Given the description of an element on the screen output the (x, y) to click on. 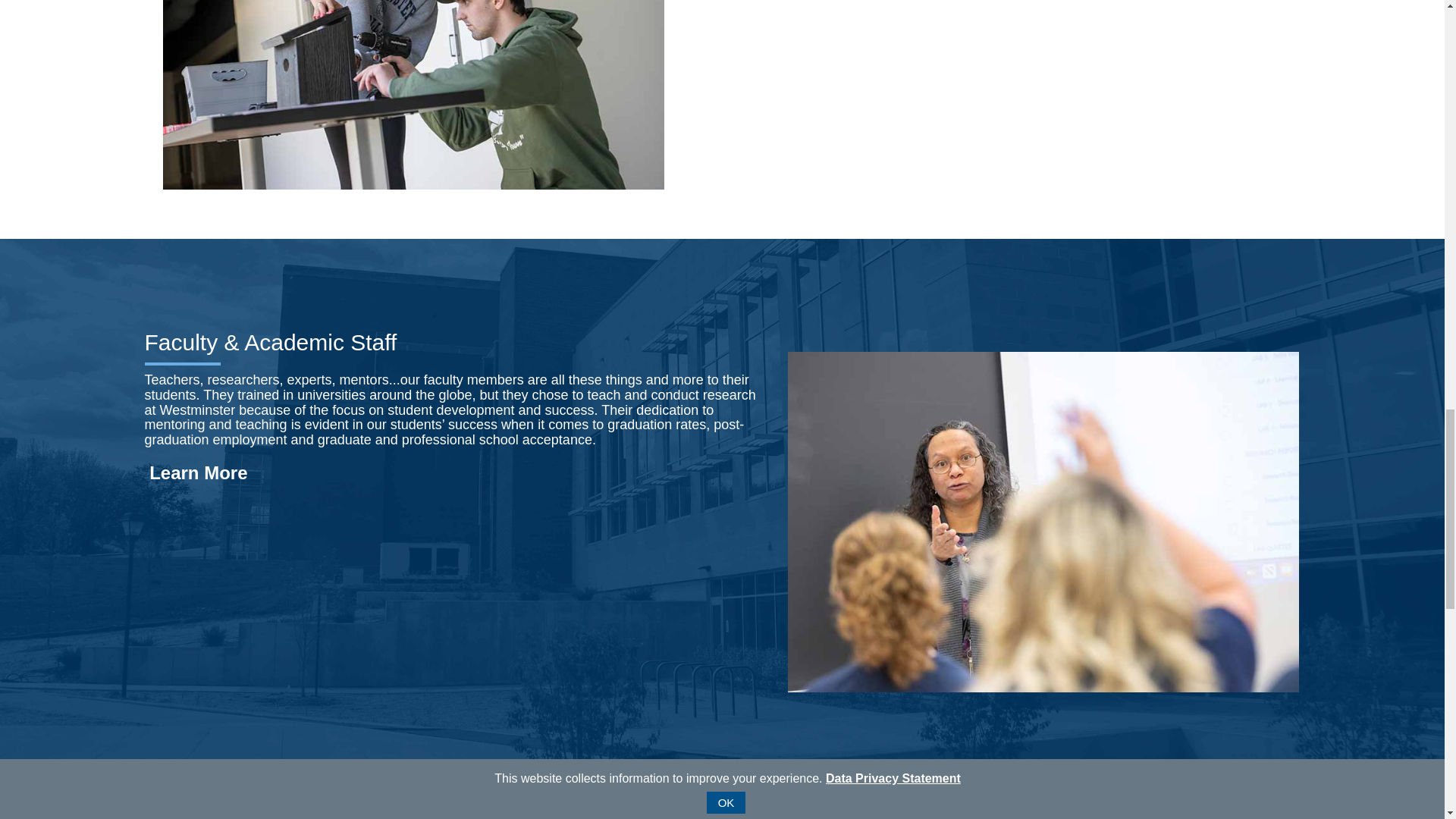
 Learn More (195, 472)
